Given the description of an element on the screen output the (x, y) to click on. 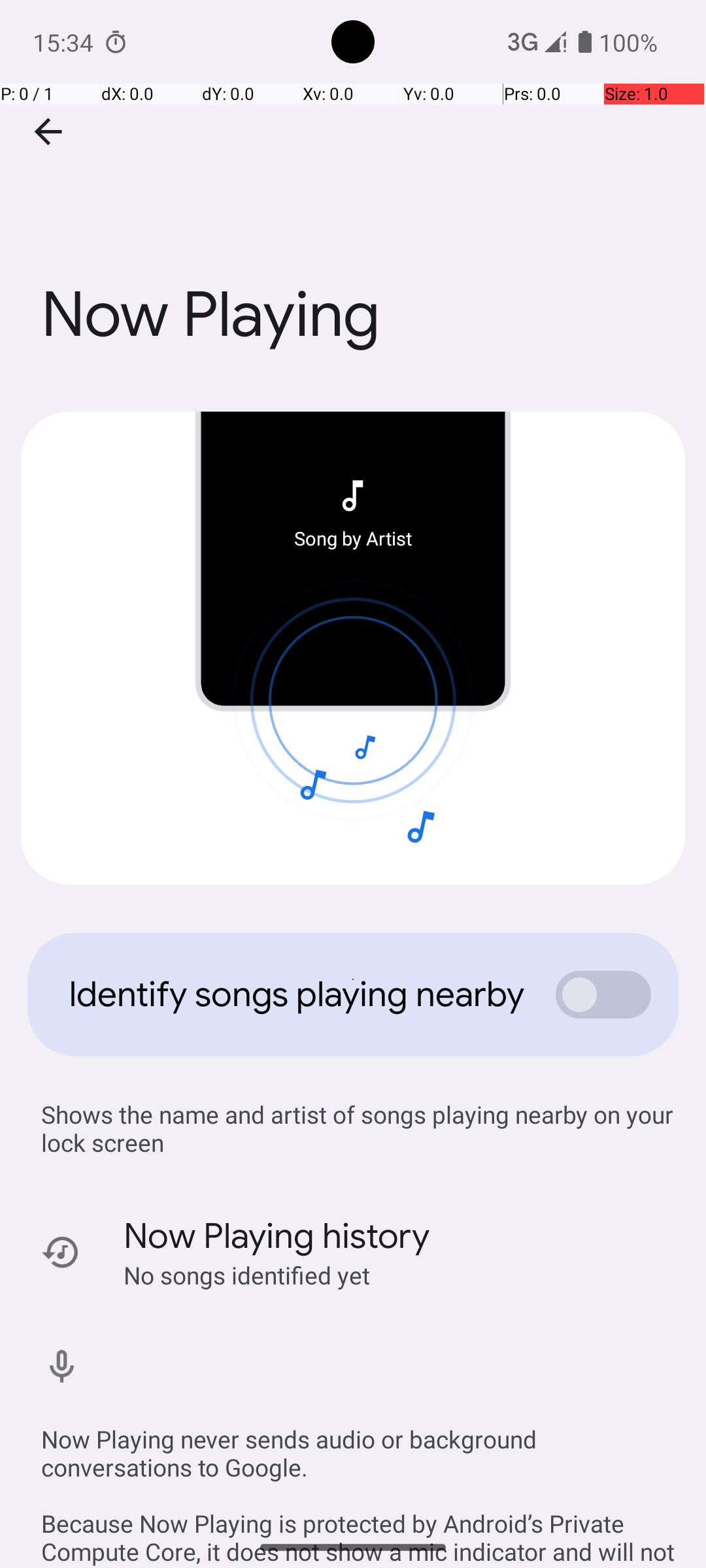
Shows the name and artist of songs playing nearby on your lock screen Element type: android.widget.TextView (359, 1128)
Now Playing history Element type: android.widget.TextView (276, 1235)
No songs identified yet Element type: android.widget.TextView (246, 1274)
Now Playing never sends audio or background conversations to Google.

Because Now Playing is protected by Android’s Private Compute Core, it does not show a mic indicator and will not appear on your Privacy dashboard. Element type: android.widget.TextView (359, 1481)
